Given the description of an element on the screen output the (x, y) to click on. 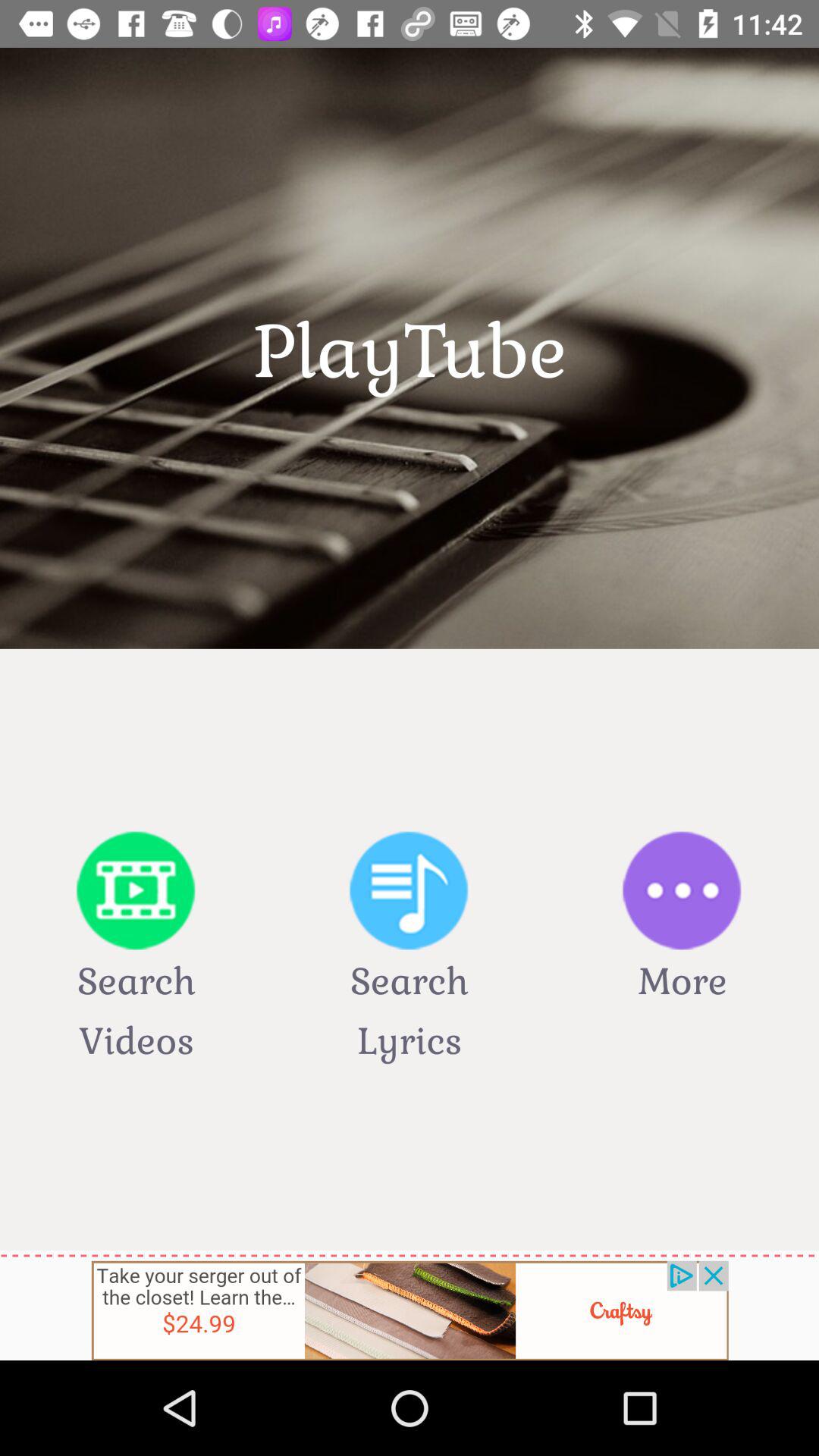
advertisement (409, 1310)
